Given the description of an element on the screen output the (x, y) to click on. 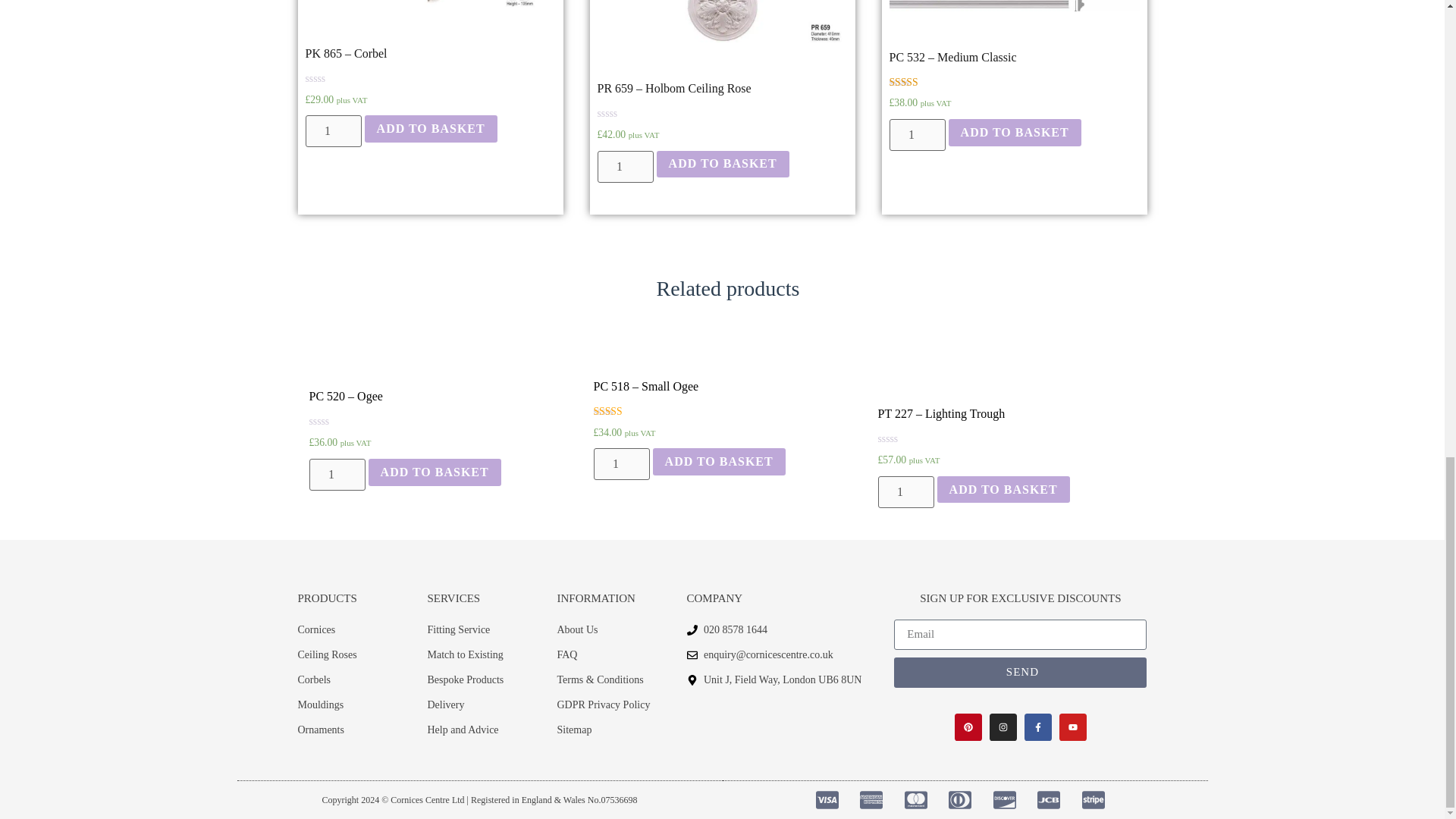
1 (620, 463)
1 (336, 474)
1 (905, 491)
1 (332, 131)
1 (916, 134)
1 (624, 166)
